Given the description of an element on the screen output the (x, y) to click on. 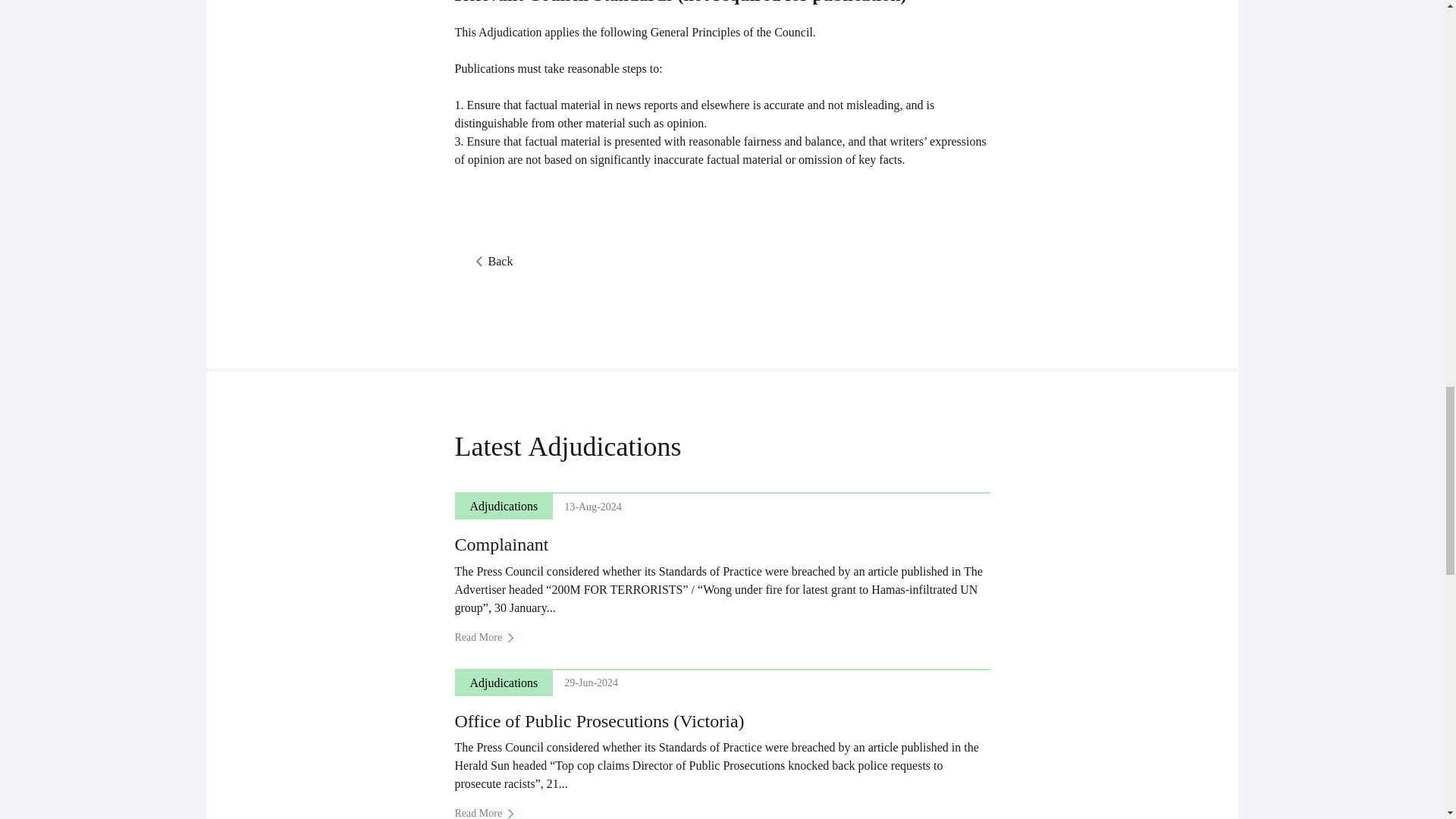
Read More (489, 637)
Complainant (501, 544)
Adjudications (604, 446)
